Given the description of an element on the screen output the (x, y) to click on. 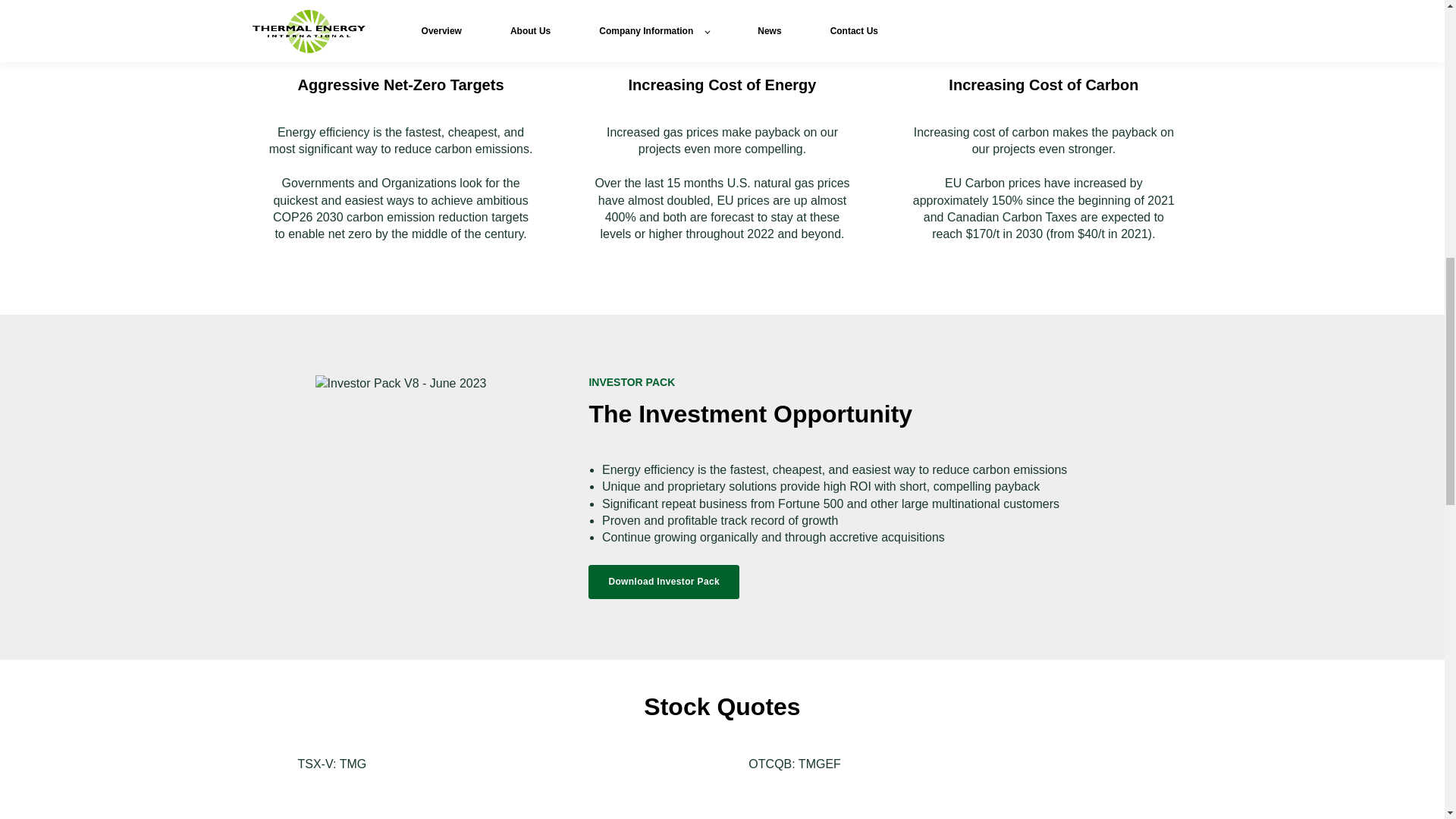
advanced chart TradingView widget (947, 796)
advanced chart TradingView widget (496, 796)
Download Investor Pack (663, 581)
Download Investor Pack (663, 581)
Investor Pack V8 - June 2023 (400, 383)
